Given the description of an element on the screen output the (x, y) to click on. 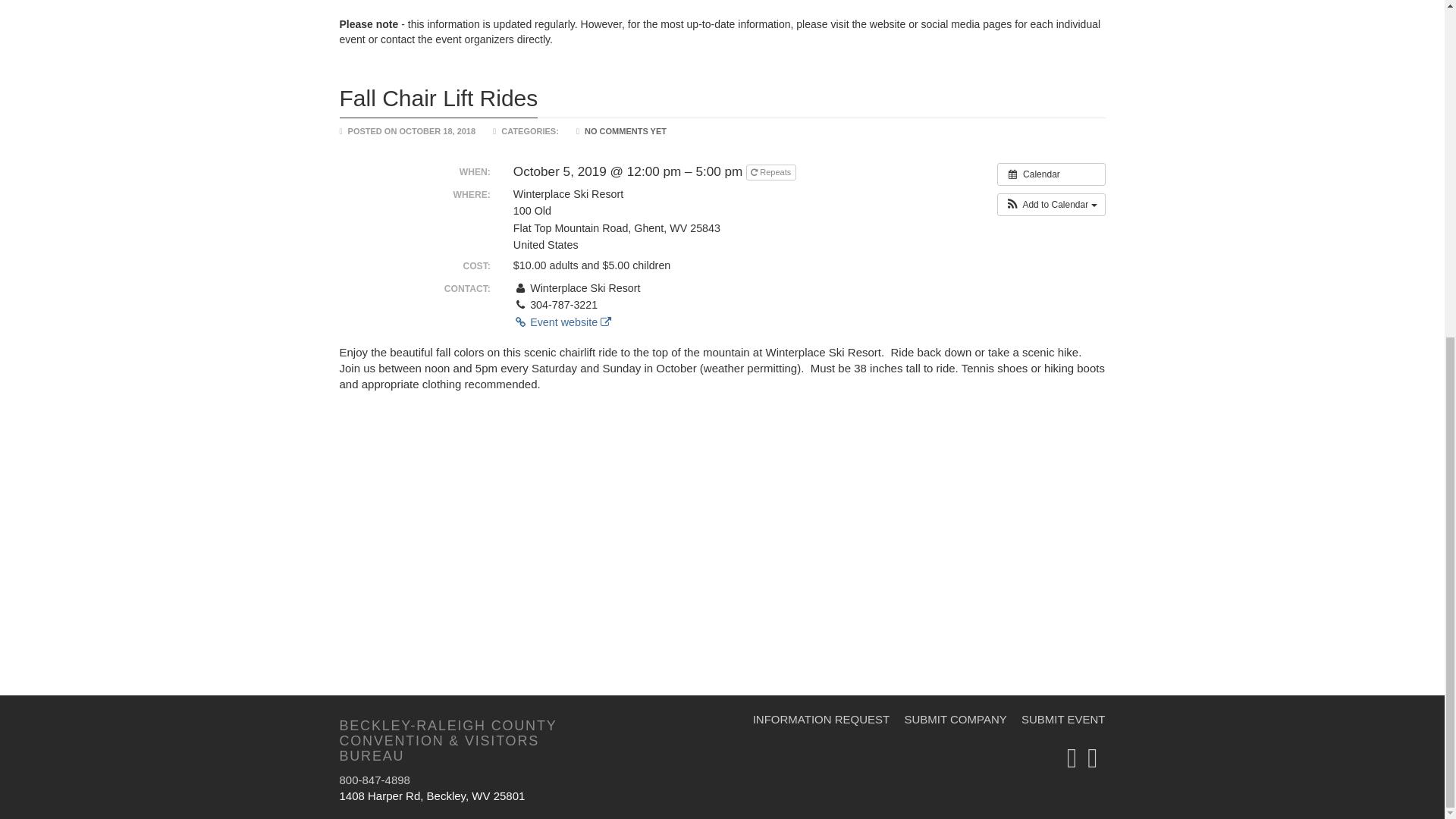
Event website (562, 322)
Repeats (770, 172)
NO COMMENTS YET (625, 130)
Calendar (1051, 173)
800-847-4898 (374, 779)
INFORMATION REQUEST (820, 718)
View all events (1051, 173)
